Given the description of an element on the screen output the (x, y) to click on. 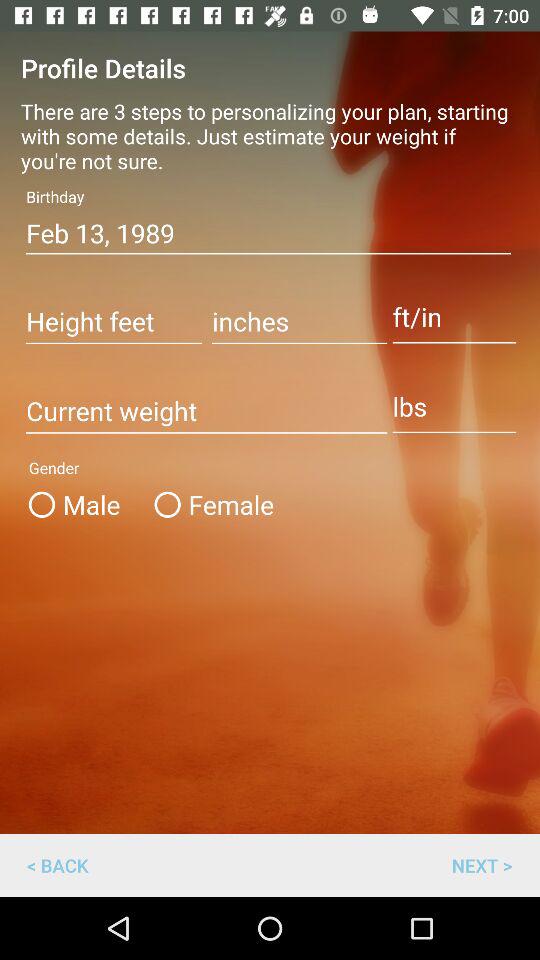
turn on item to the left of next > item (57, 864)
